Given the description of an element on the screen output the (x, y) to click on. 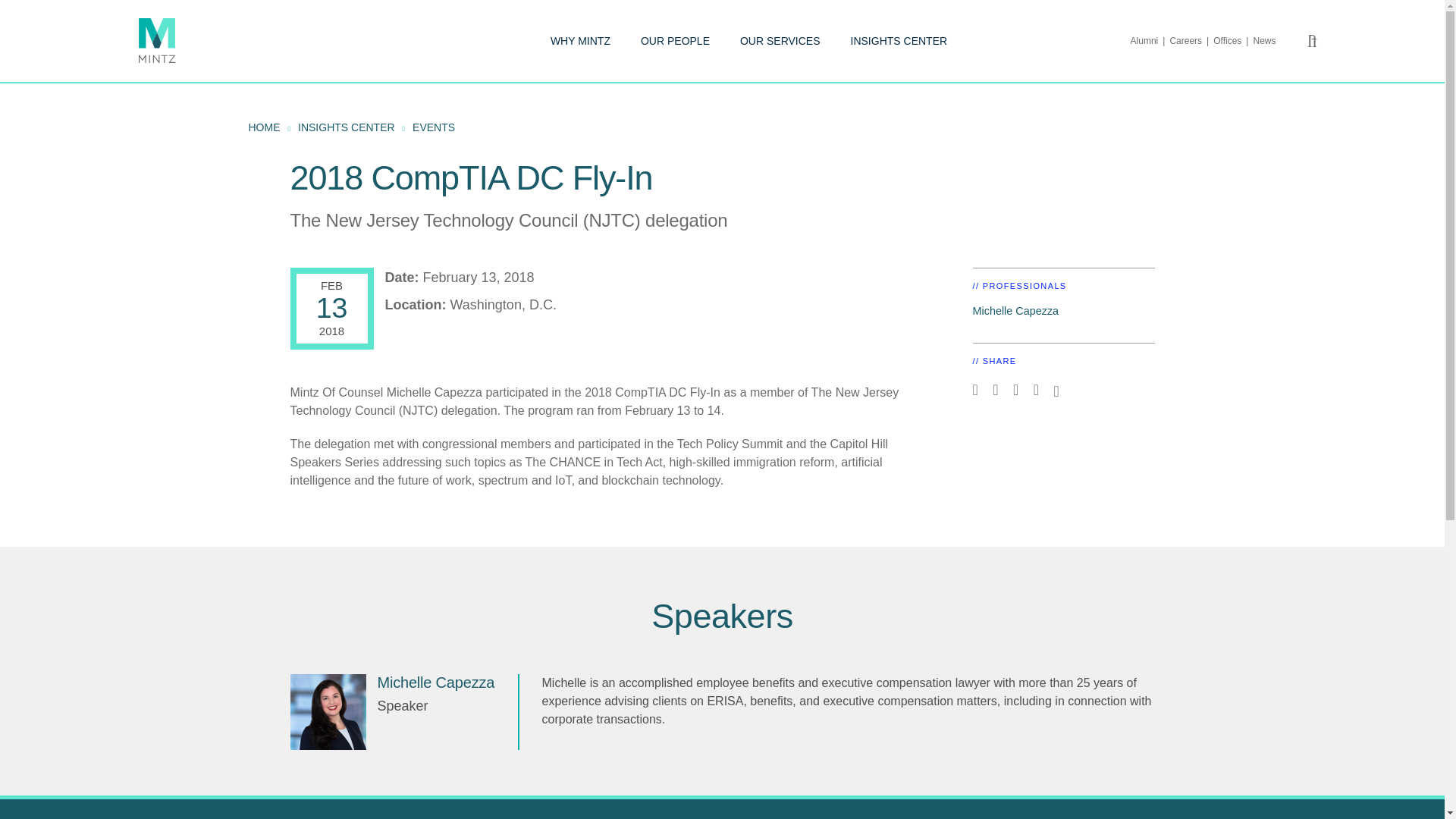
Michelle Capezza (1015, 310)
Michelle Capezza (436, 682)
News (1263, 40)
OUR PEOPLE (675, 40)
INSIGHTS CENTER (898, 40)
OUR SERVICES (780, 40)
HOME (264, 127)
WHY MINTZ (580, 40)
Offices (1232, 40)
INSIGHTS CENTER (346, 127)
